Given the description of an element on the screen output the (x, y) to click on. 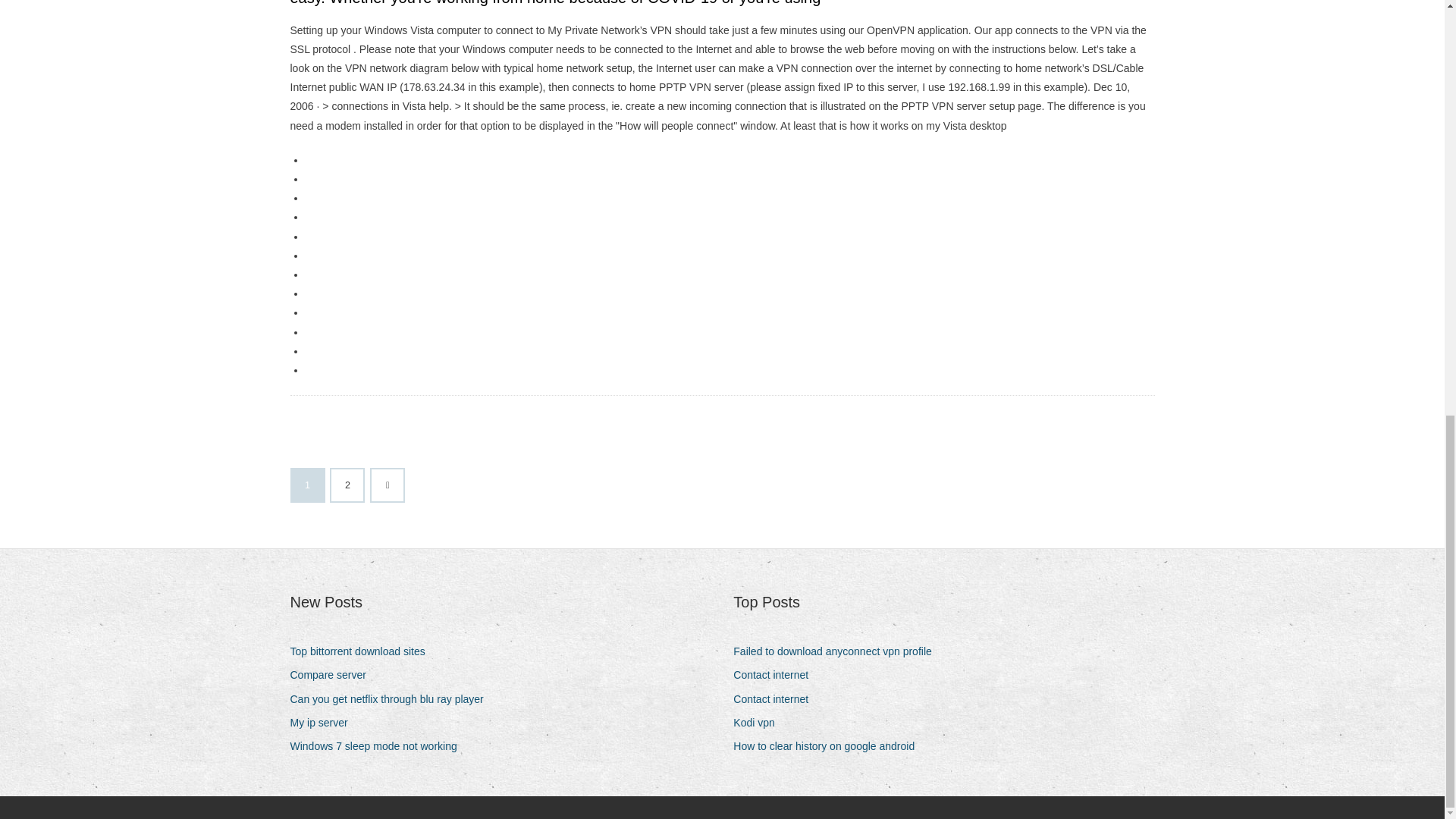
Top bittorrent download sites (362, 651)
Can you get netflix through blu ray player (392, 699)
Failed to download anyconnect vpn profile (838, 651)
Kodi vpn (759, 722)
My ip server (323, 722)
Contact internet (776, 699)
Windows 7 sleep mode not working (378, 746)
How to clear history on google android (829, 746)
Contact internet (776, 675)
Compare server (333, 675)
2 (346, 485)
